Given the description of an element on the screen output the (x, y) to click on. 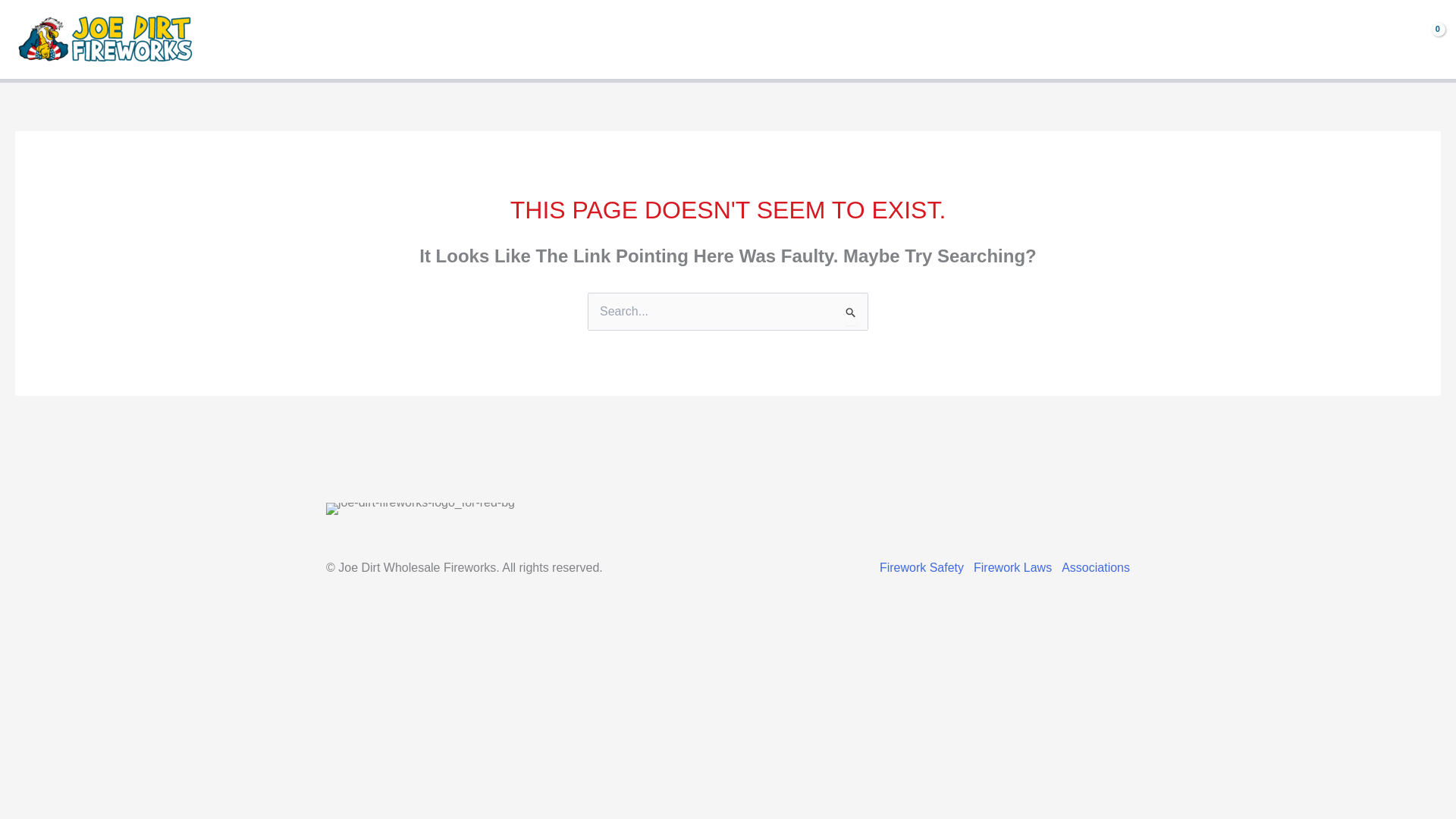
FIND A LOCATION (288, 39)
ABOUT US (559, 39)
SHOP WHOLESALE (430, 39)
